Given the description of an element on the screen output the (x, y) to click on. 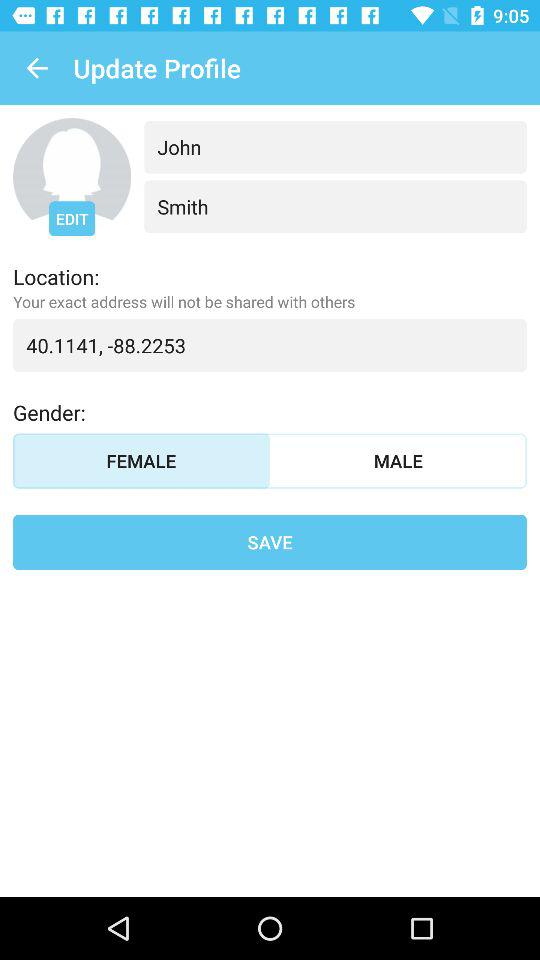
turn off save item (269, 542)
